Given the description of an element on the screen output the (x, y) to click on. 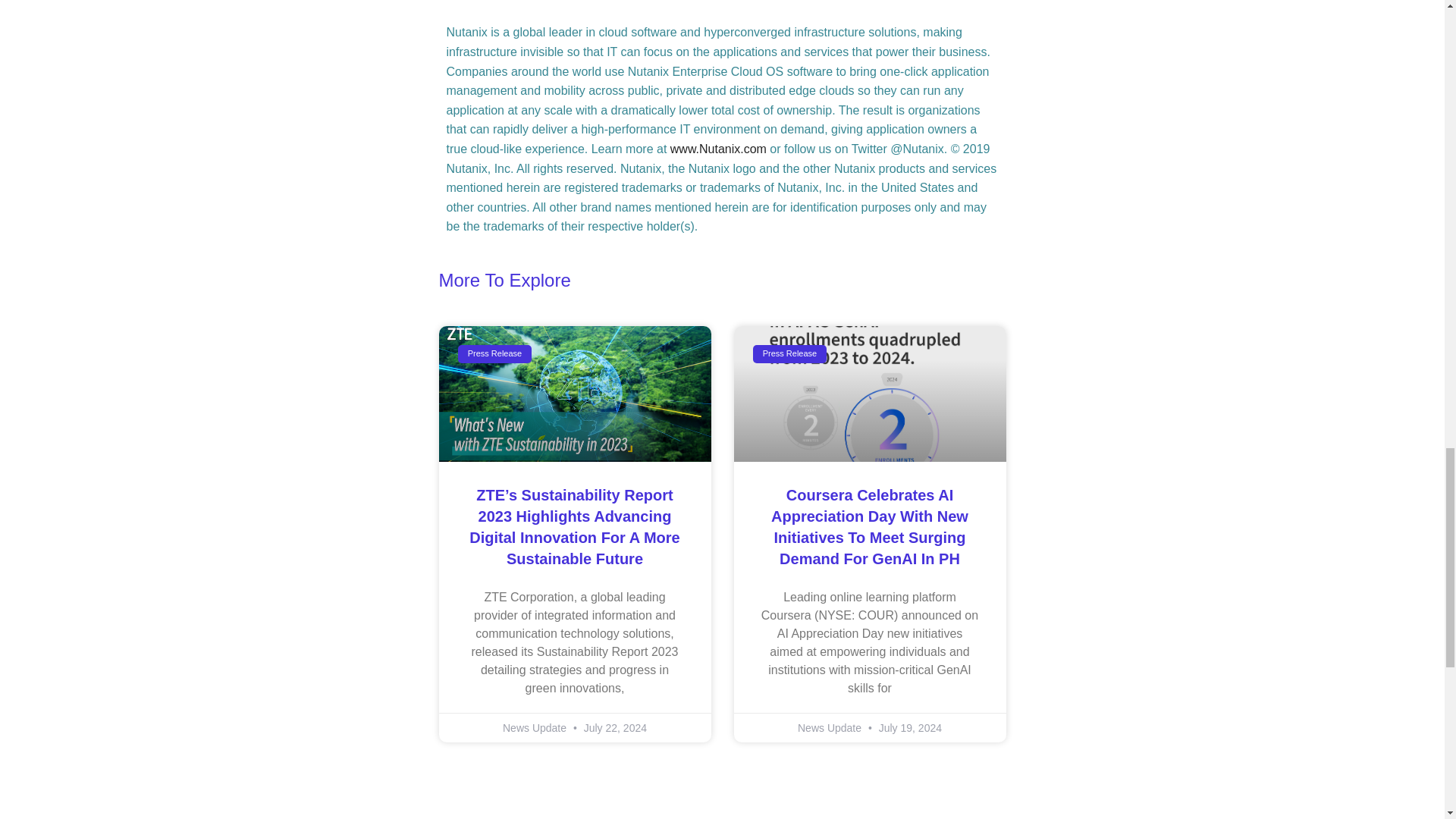
www.Nutanix.com (718, 148)
